Given the description of an element on the screen output the (x, y) to click on. 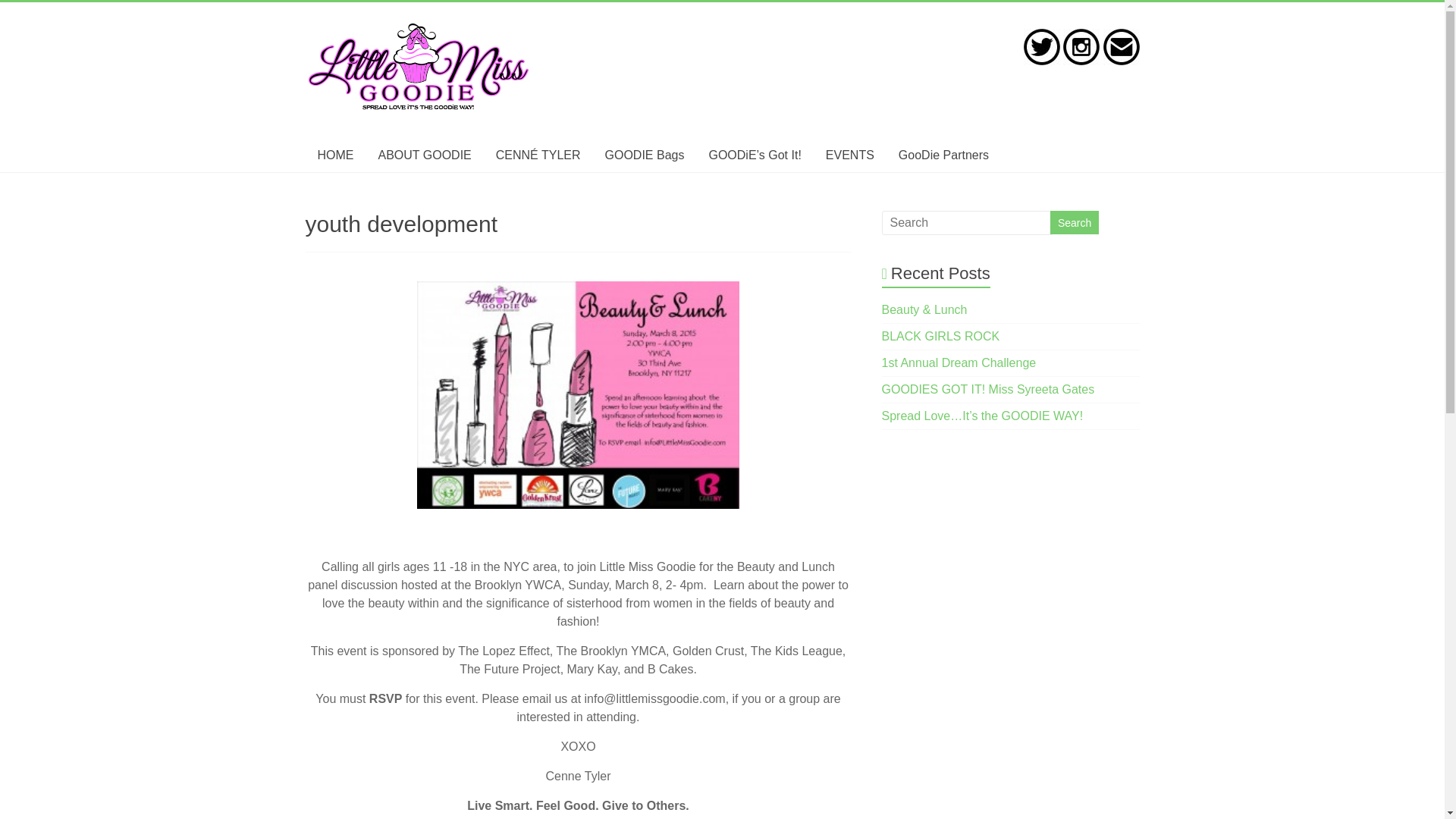
HOME (334, 154)
GOODIE Bags (644, 154)
1st Annual Dream Challenge (959, 362)
Email (1120, 46)
ABOUT GOODIE (424, 154)
Search (1074, 222)
Twitter (1041, 46)
instagram (1080, 46)
BLACK GIRLS ROCK (941, 336)
Search (1074, 222)
Little Miss Goodie (418, 28)
EVENTS (849, 154)
GooDie Partners (943, 154)
GOODIES GOT IT! Miss Syreeta Gates (988, 389)
